Given the description of an element on the screen output the (x, y) to click on. 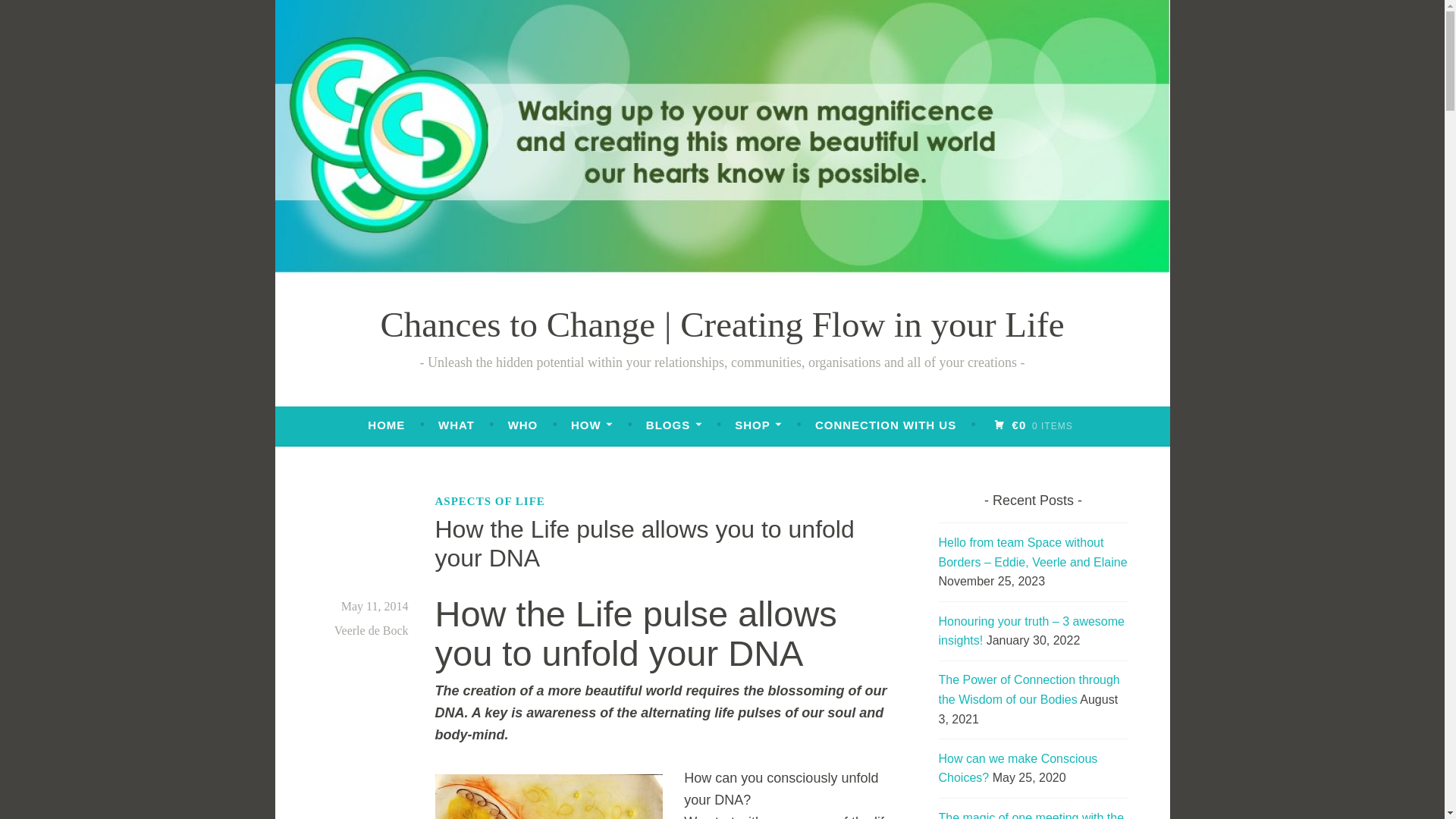
ChancesToChange board game (456, 424)
View your shopping cart (1032, 424)
ASPECTS OF LIFE (489, 501)
HOW (591, 424)
Veerle de Bock (371, 630)
May 11, 2014 (374, 605)
CONNECTION WITH US (885, 424)
WHAT (456, 424)
BLOGS (673, 424)
WHO (523, 424)
HOME (386, 424)
SHOP (758, 424)
